Given the description of an element on the screen output the (x, y) to click on. 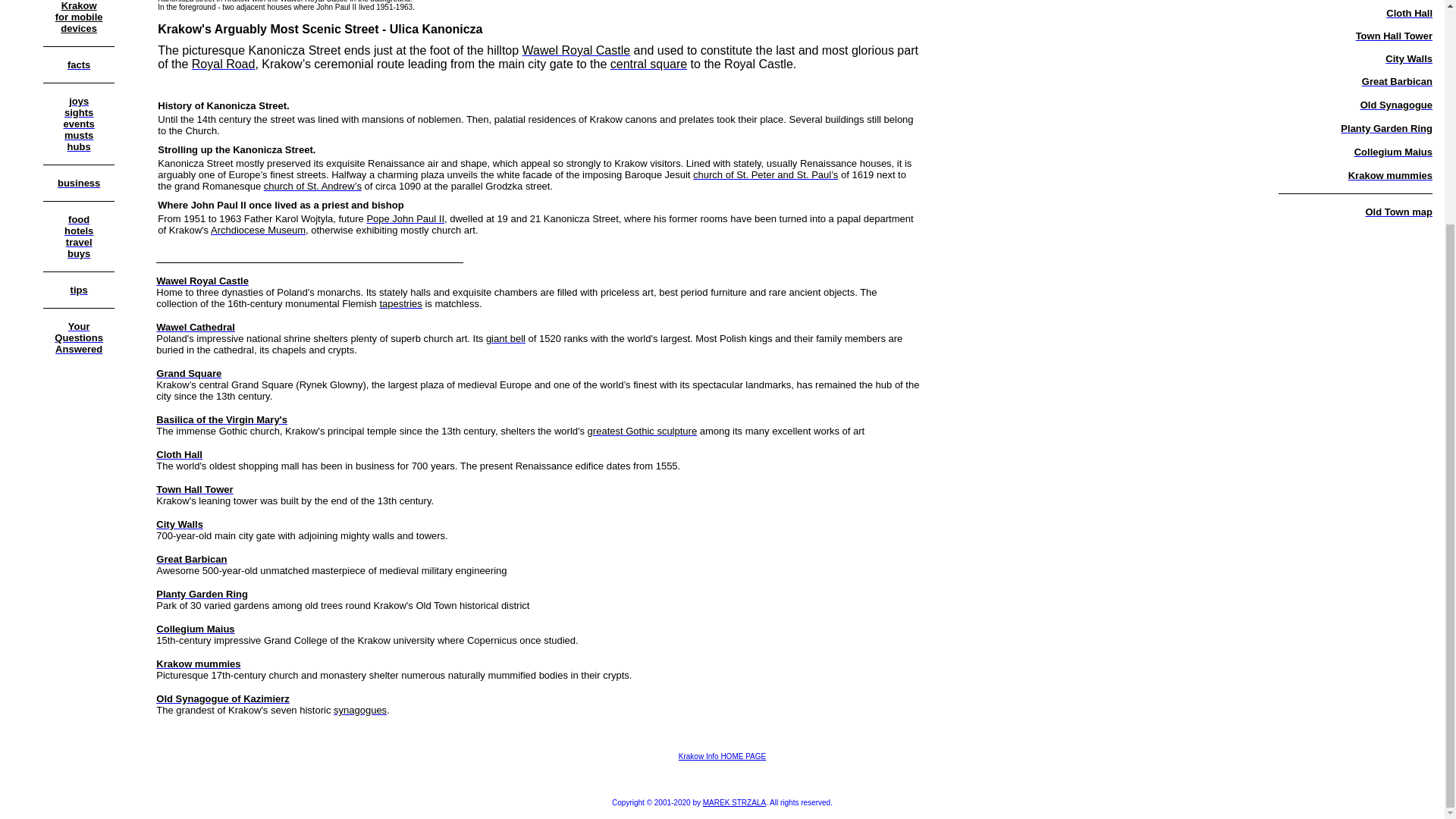
business (79, 182)
joys (78, 100)
musts (78, 133)
hubs (78, 145)
hotels (78, 229)
buys (78, 252)
facts (78, 63)
food (78, 218)
travel (79, 17)
sights (79, 241)
events (78, 111)
